Given the description of an element on the screen output the (x, y) to click on. 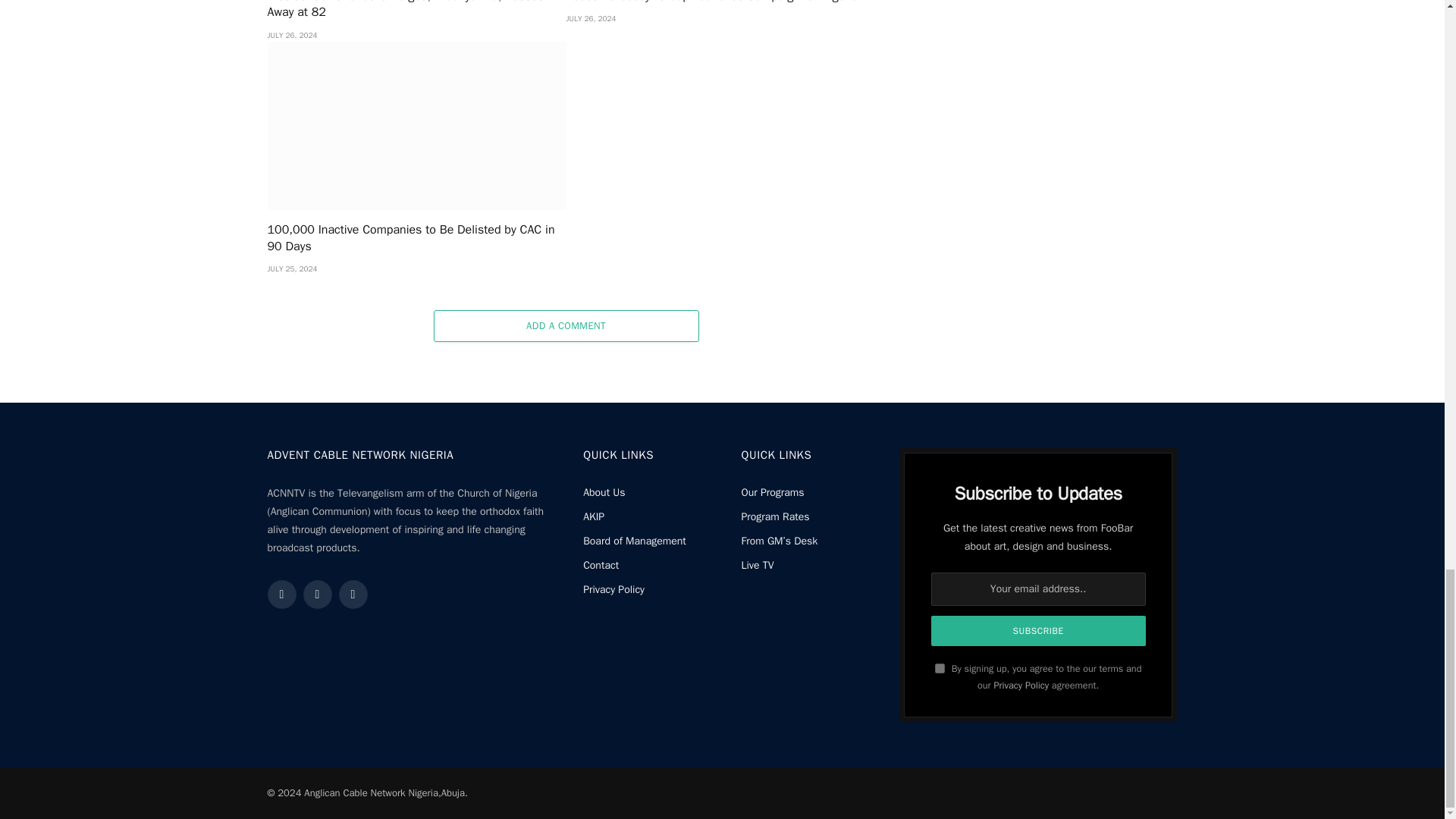
Subscribe (1038, 630)
on (939, 668)
